Given the description of an element on the screen output the (x, y) to click on. 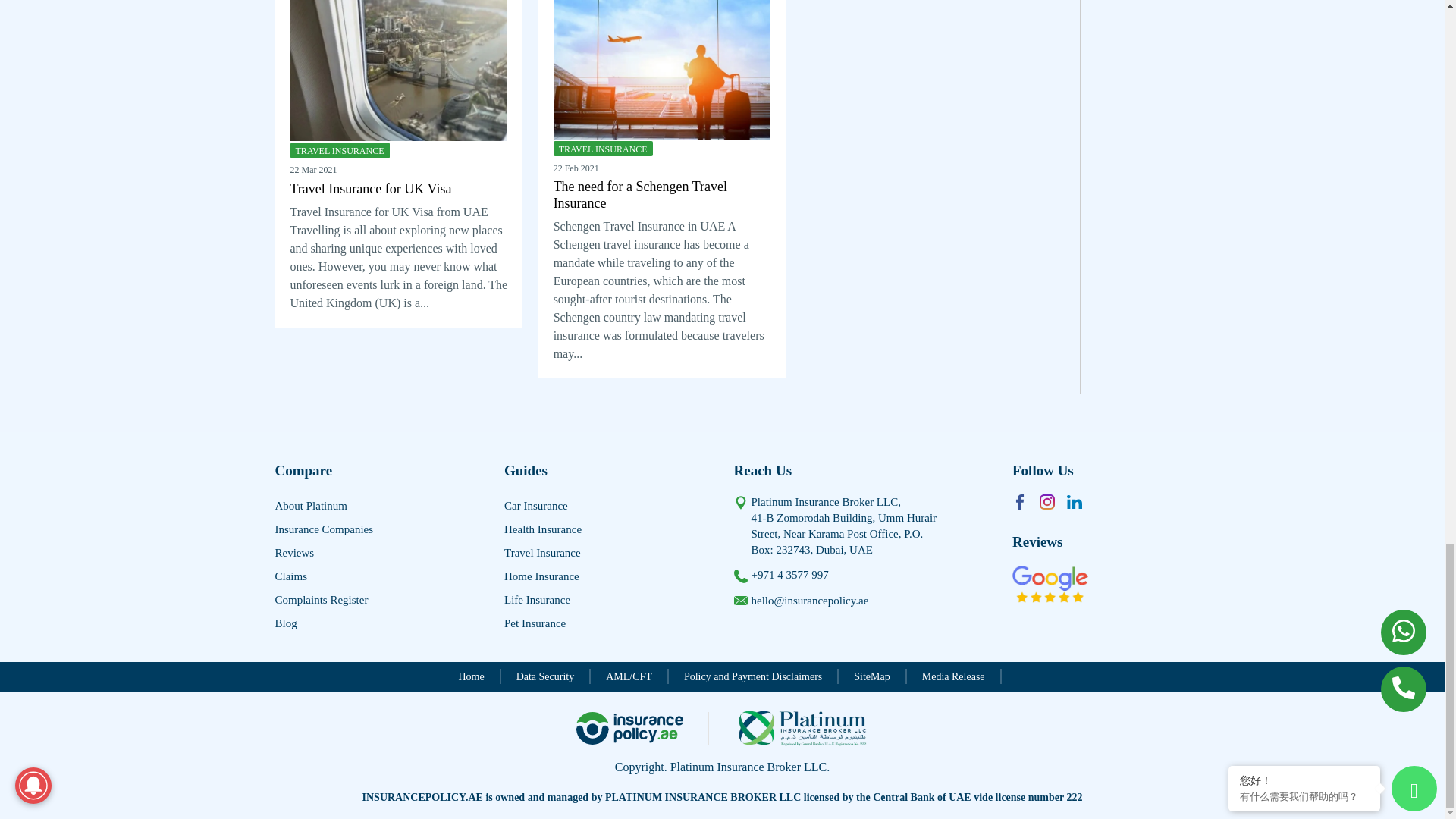
mail (740, 600)
bold (607, 576)
